Given the description of an element on the screen output the (x, y) to click on. 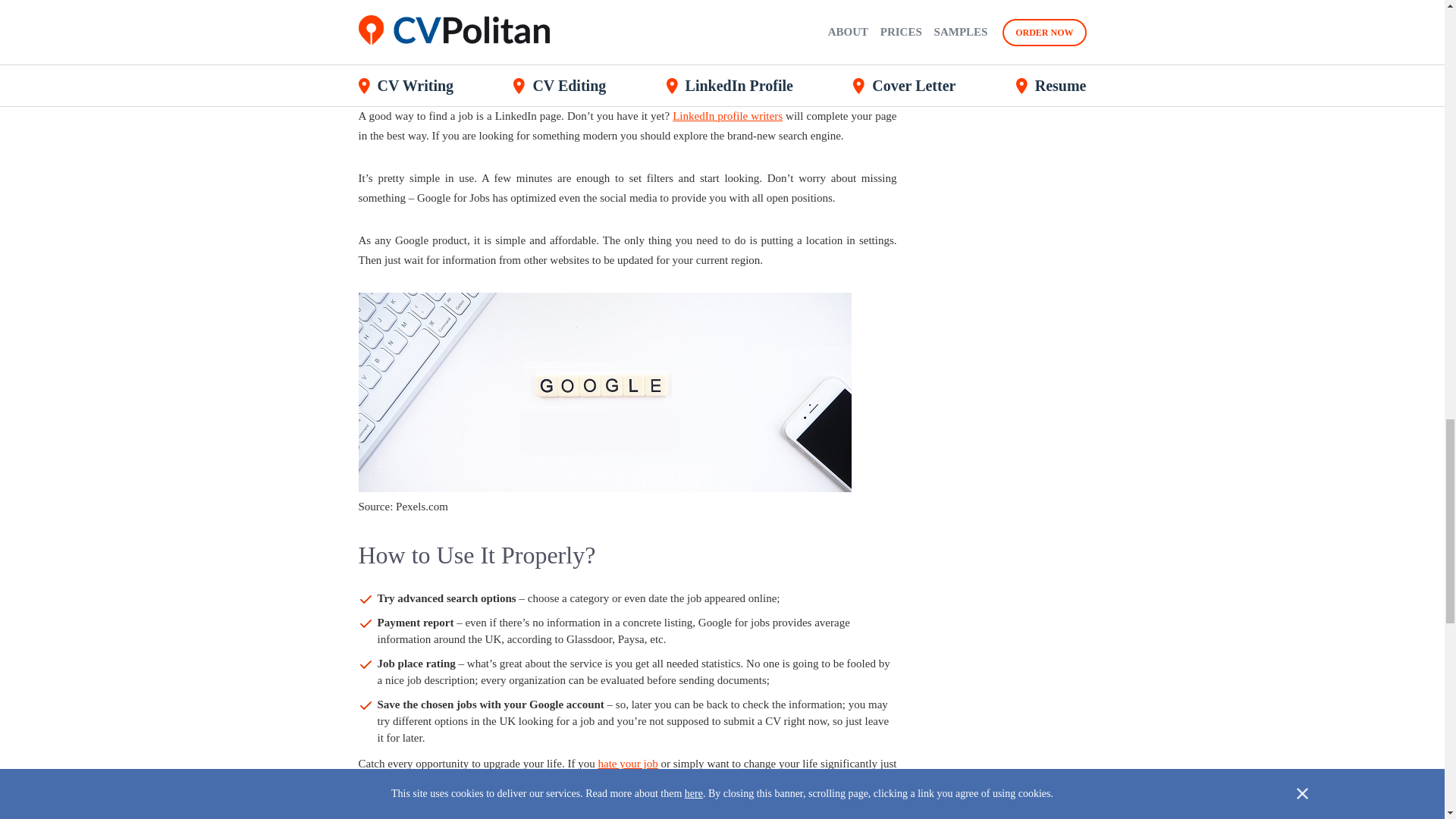
LinkedIn profile writers (727, 115)
hate your job (628, 763)
Expert LinkedIn Profile Writing Service (727, 115)
I Hate My Job, What Should I Do? (628, 763)
